Given the description of an element on the screen output the (x, y) to click on. 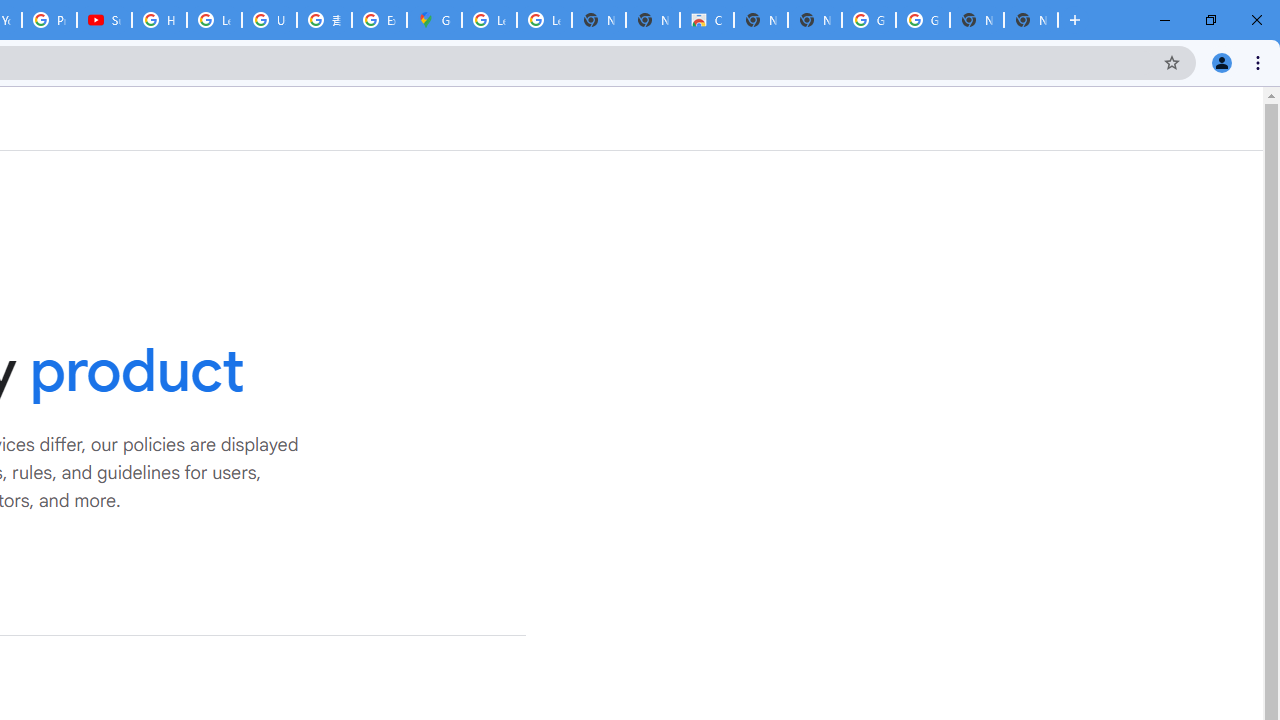
Google Images (868, 20)
Chrome Web Store (706, 20)
How Chrome protects your passwords - Google Chrome Help (158, 20)
Google Maps (434, 20)
Google Images (922, 20)
New Tab (1030, 20)
